Given the description of an element on the screen output the (x, y) to click on. 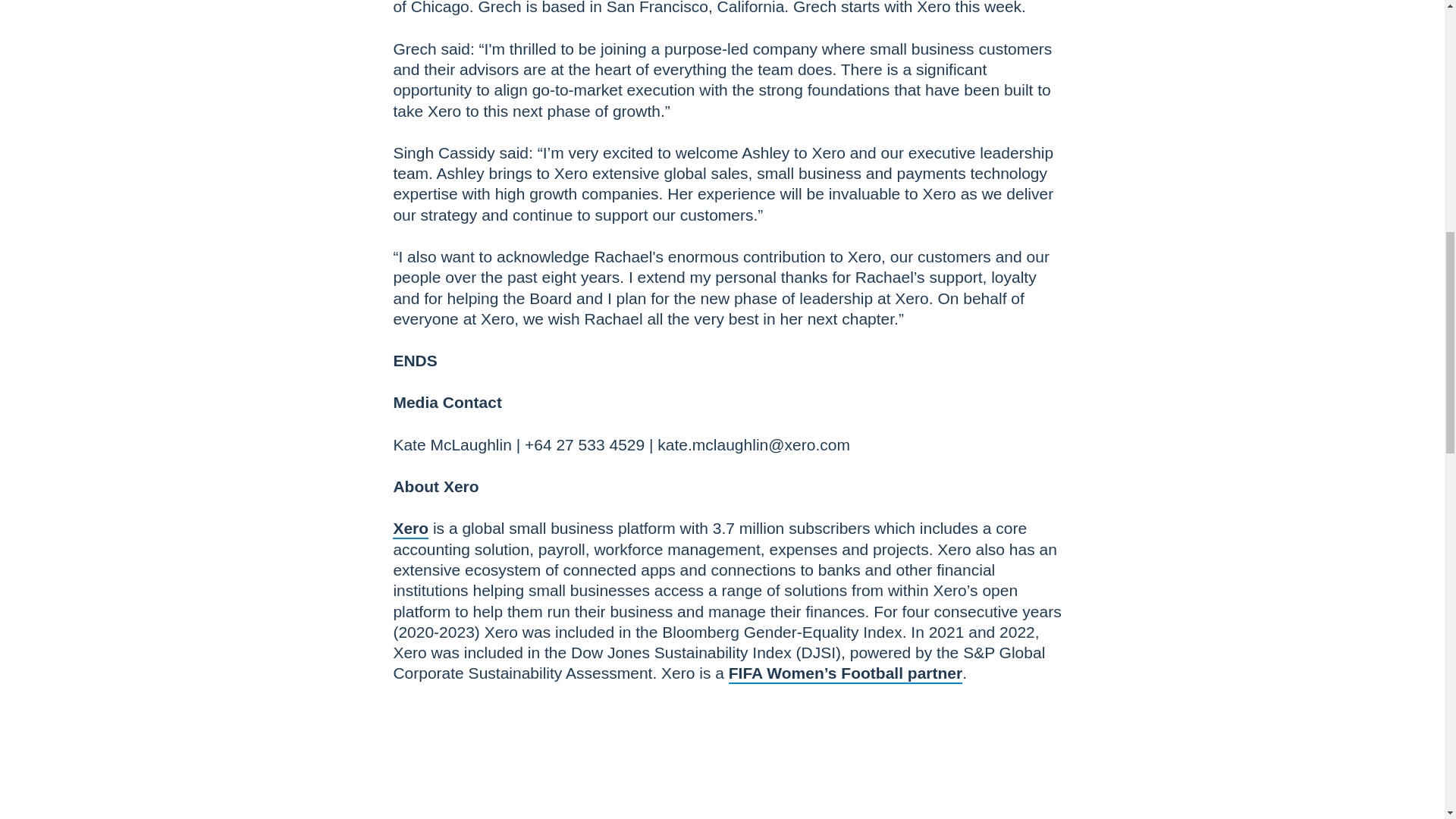
Xero (410, 528)
